Given the description of an element on the screen output the (x, y) to click on. 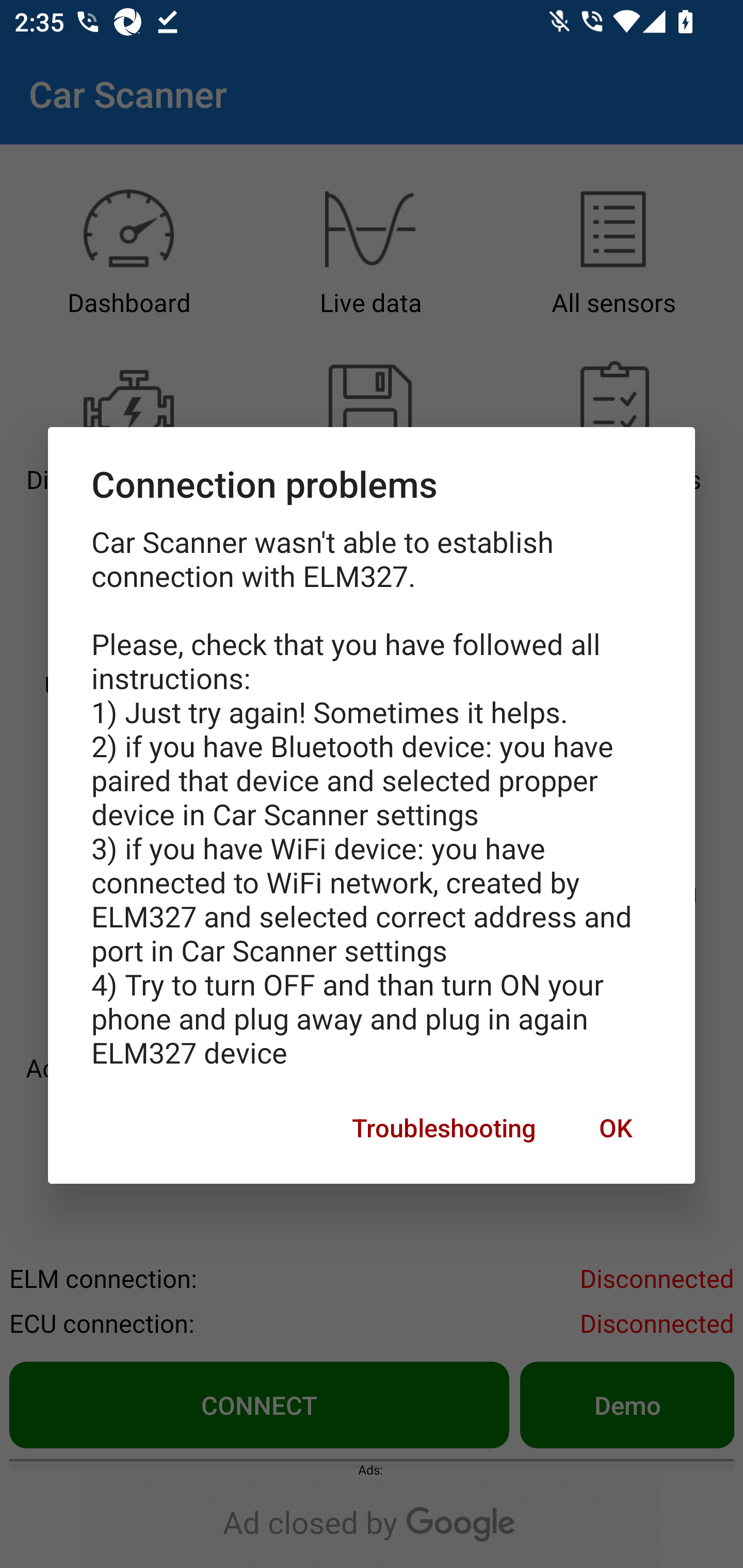
Troubleshooting (443, 1127)
OK (615, 1127)
